Given the description of an element on the screen output the (x, y) to click on. 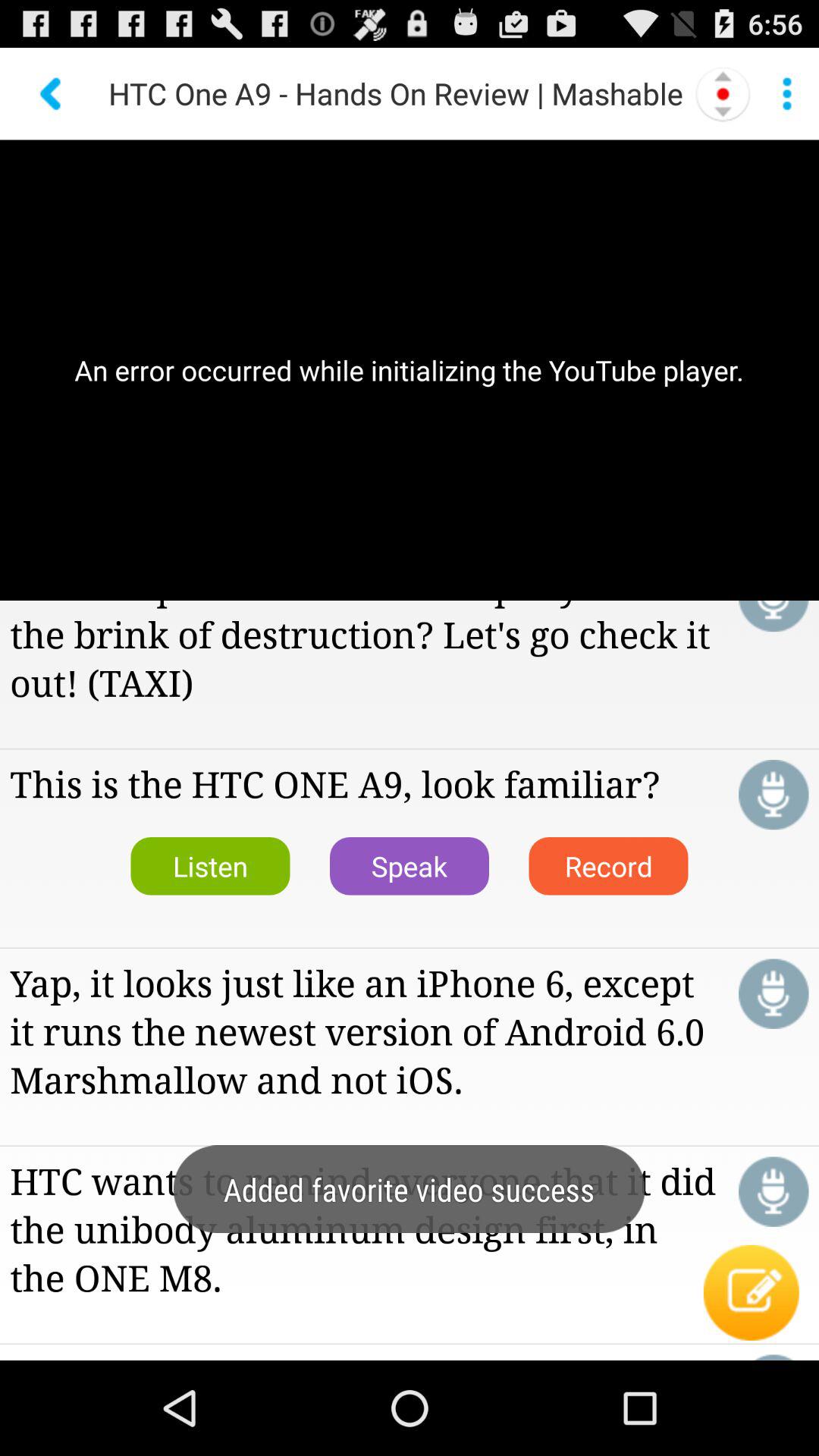
previews button (52, 93)
